Given the description of an element on the screen output the (x, y) to click on. 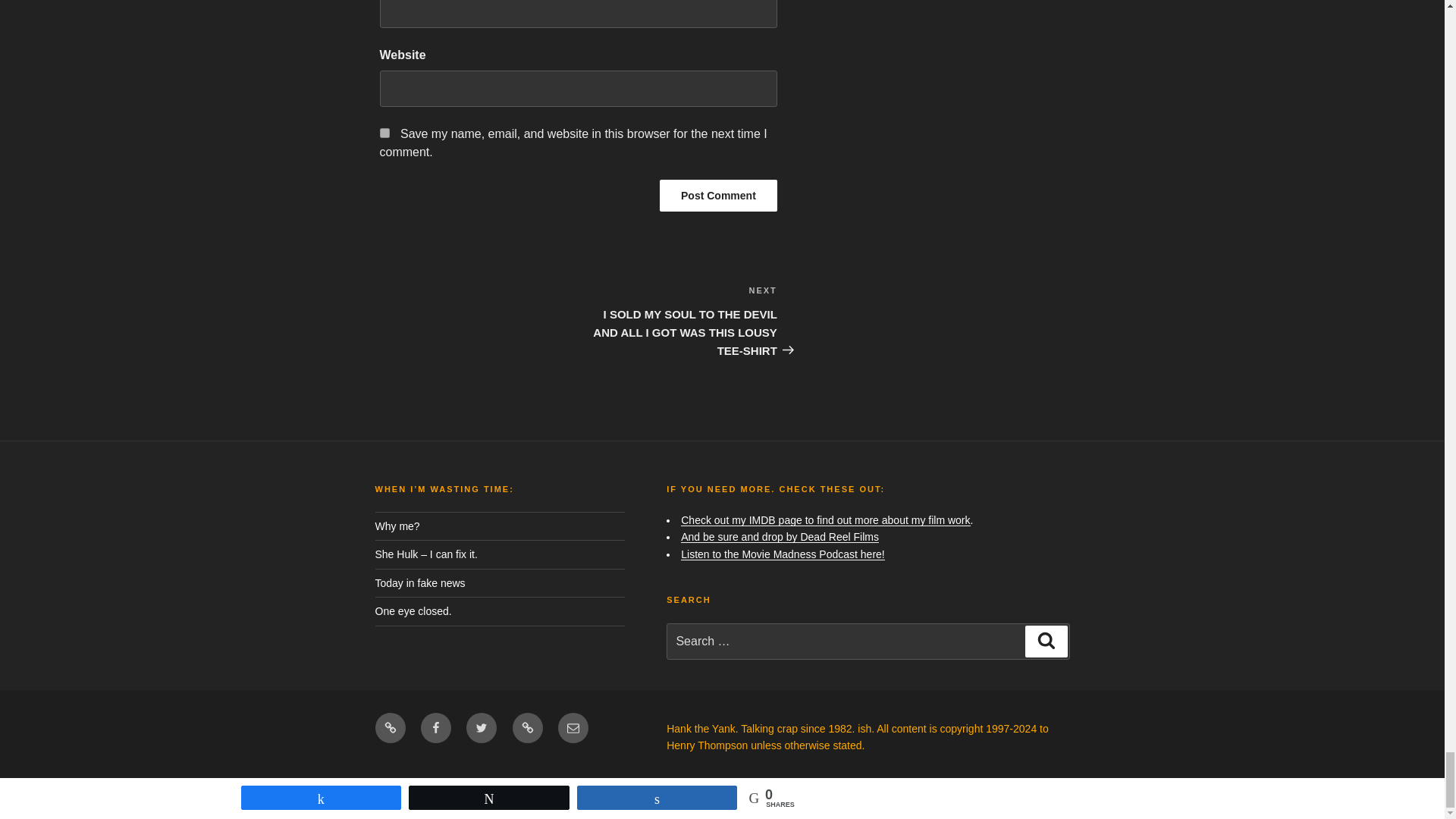
Post Comment (718, 195)
Post Comment (718, 195)
yes (383, 132)
